Given the description of an element on the screen output the (x, y) to click on. 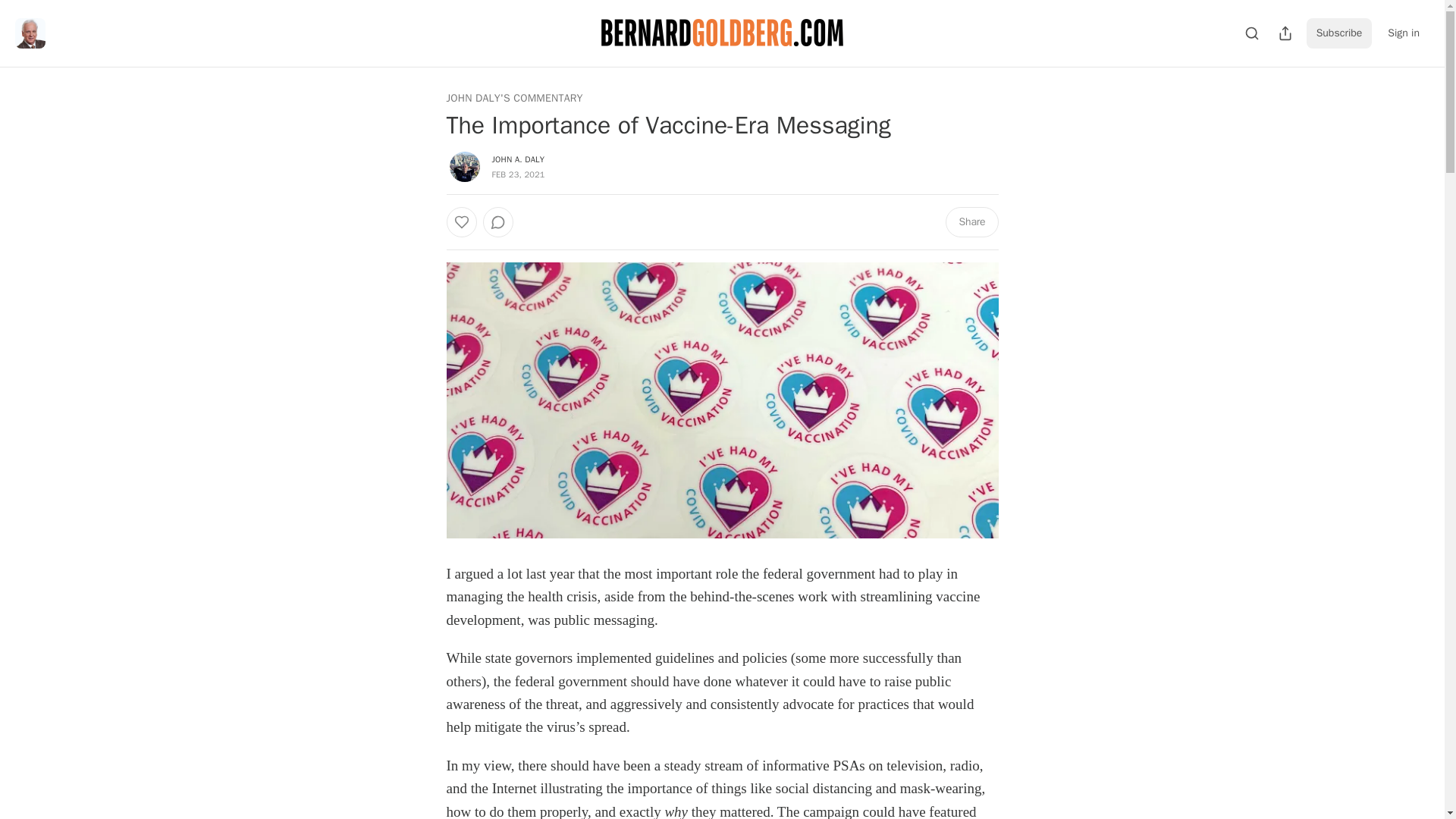
Share (970, 222)
Sign in (1403, 33)
JOHN DALY'S COMMENTARY (513, 98)
Subscribe (1339, 33)
JOHN A. DALY (518, 158)
